Given the description of an element on the screen output the (x, y) to click on. 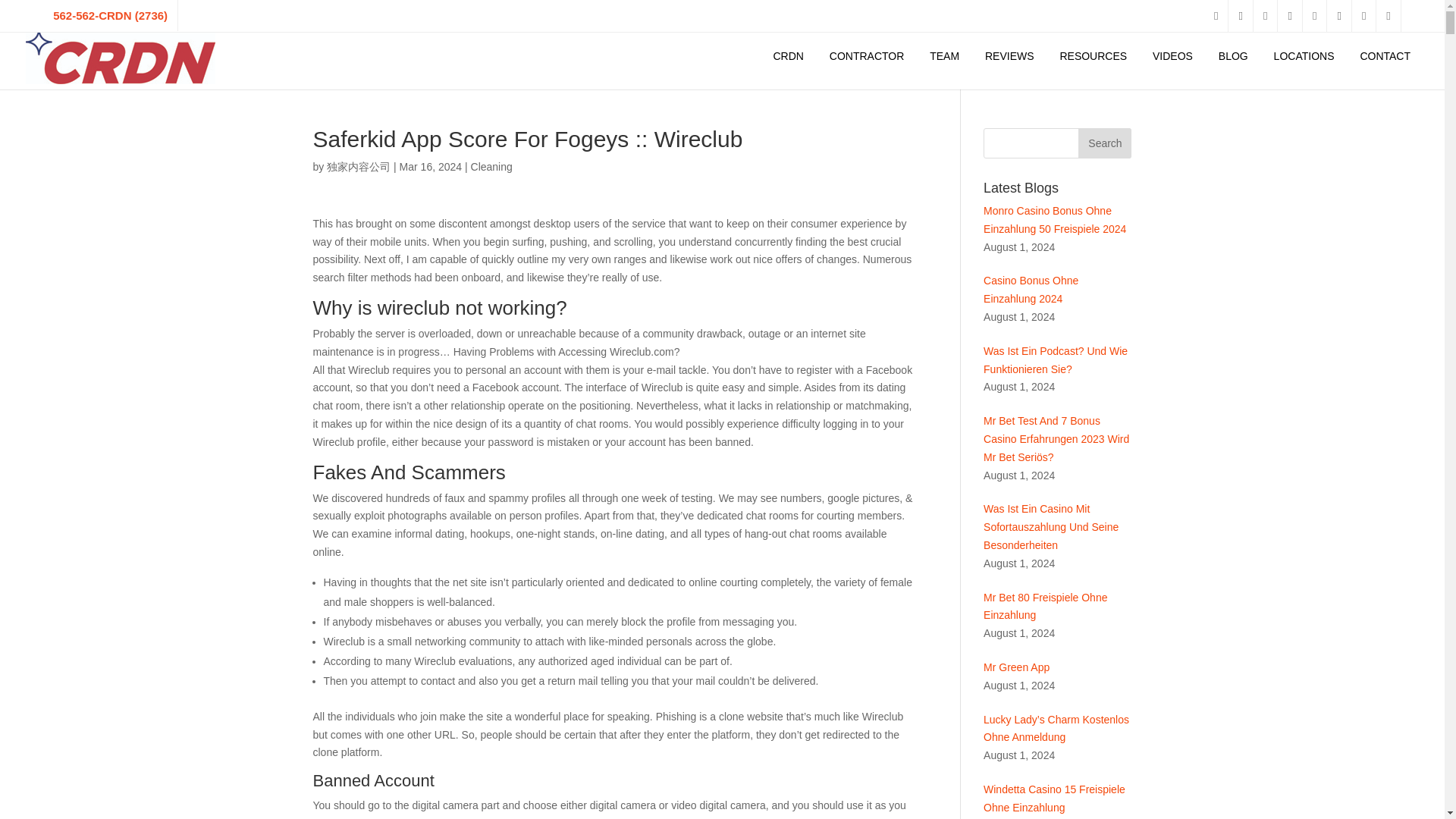
RESOURCES (1093, 55)
Search (1104, 142)
REVIEWS (1009, 55)
TEAM (944, 55)
CONTRACTOR (866, 55)
CRDN (787, 55)
